Given the description of an element on the screen output the (x, y) to click on. 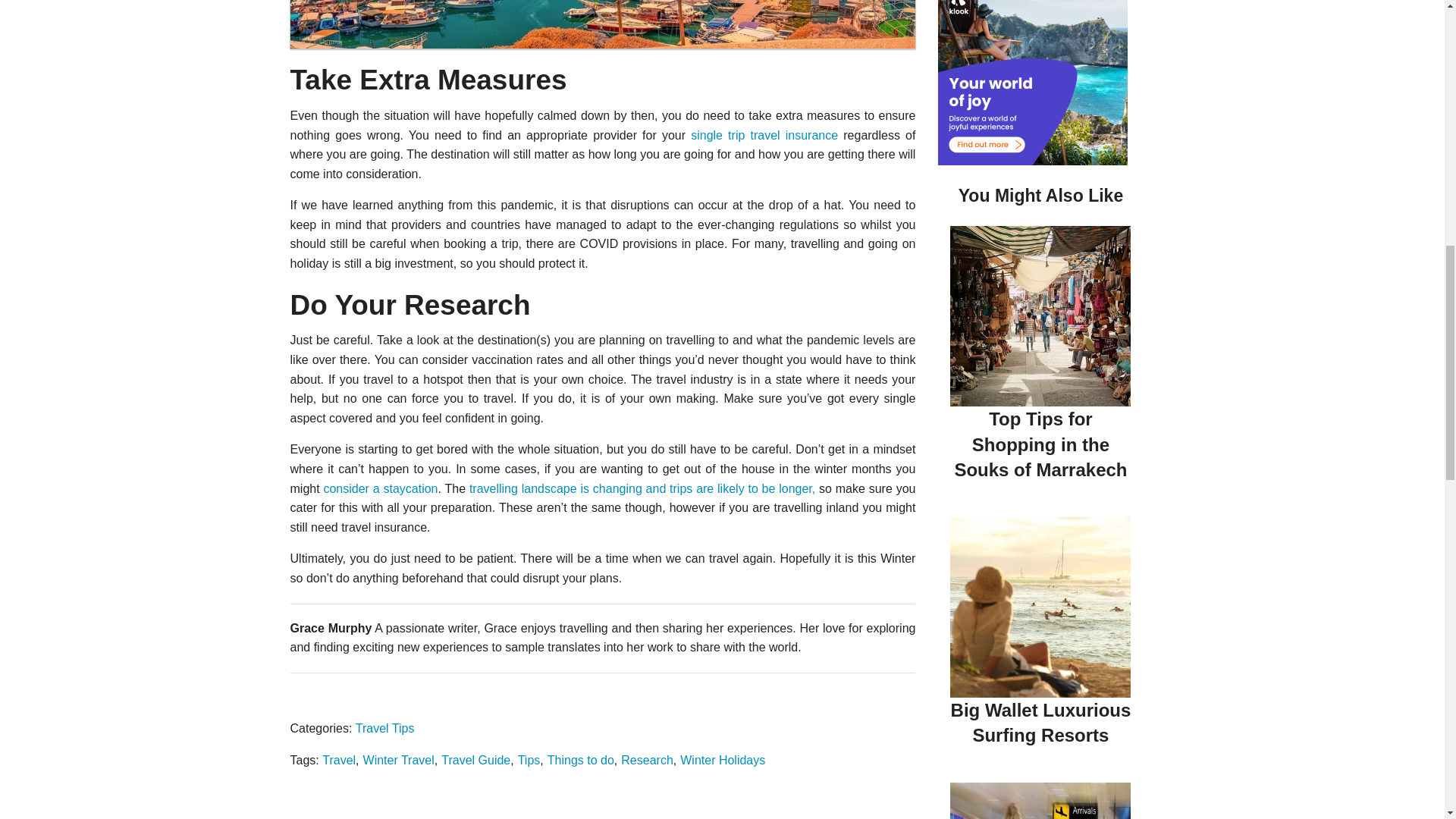
Big Wallet Luxurious Surfing Resorts (1040, 723)
Travel Tips (384, 727)
single trip travel insurance (764, 134)
Tips (529, 759)
Travel Guide (476, 759)
Things to do (580, 759)
Winter Holidays (722, 759)
Travel (338, 759)
Top Tips for Shopping in the Souks of Marrakech (1039, 443)
Winter Travel (397, 759)
Research (646, 759)
consider a staycation (380, 488)
